Given the description of an element on the screen output the (x, y) to click on. 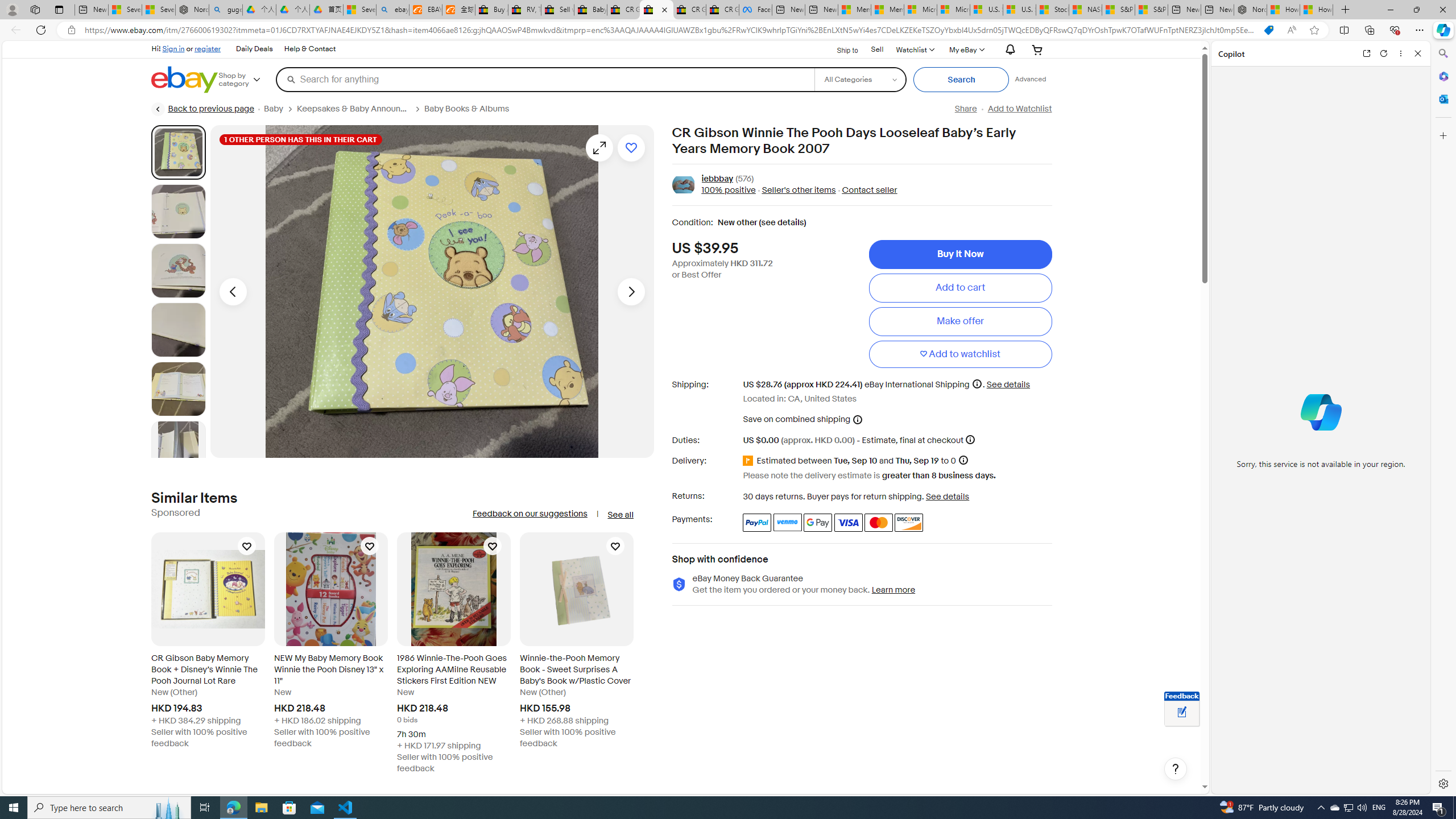
Settings (1442, 783)
Picture 2 of 22 (178, 211)
Picture 3 of 22 (178, 270)
Add to cart (959, 287)
Visa (848, 521)
Picture 2 of 22 (178, 211)
My eBay (966, 49)
Opens image gallery (598, 147)
register (207, 48)
Previous image - Item images thumbnails (232, 291)
Ship to (839, 50)
